Given the description of an element on the screen output the (x, y) to click on. 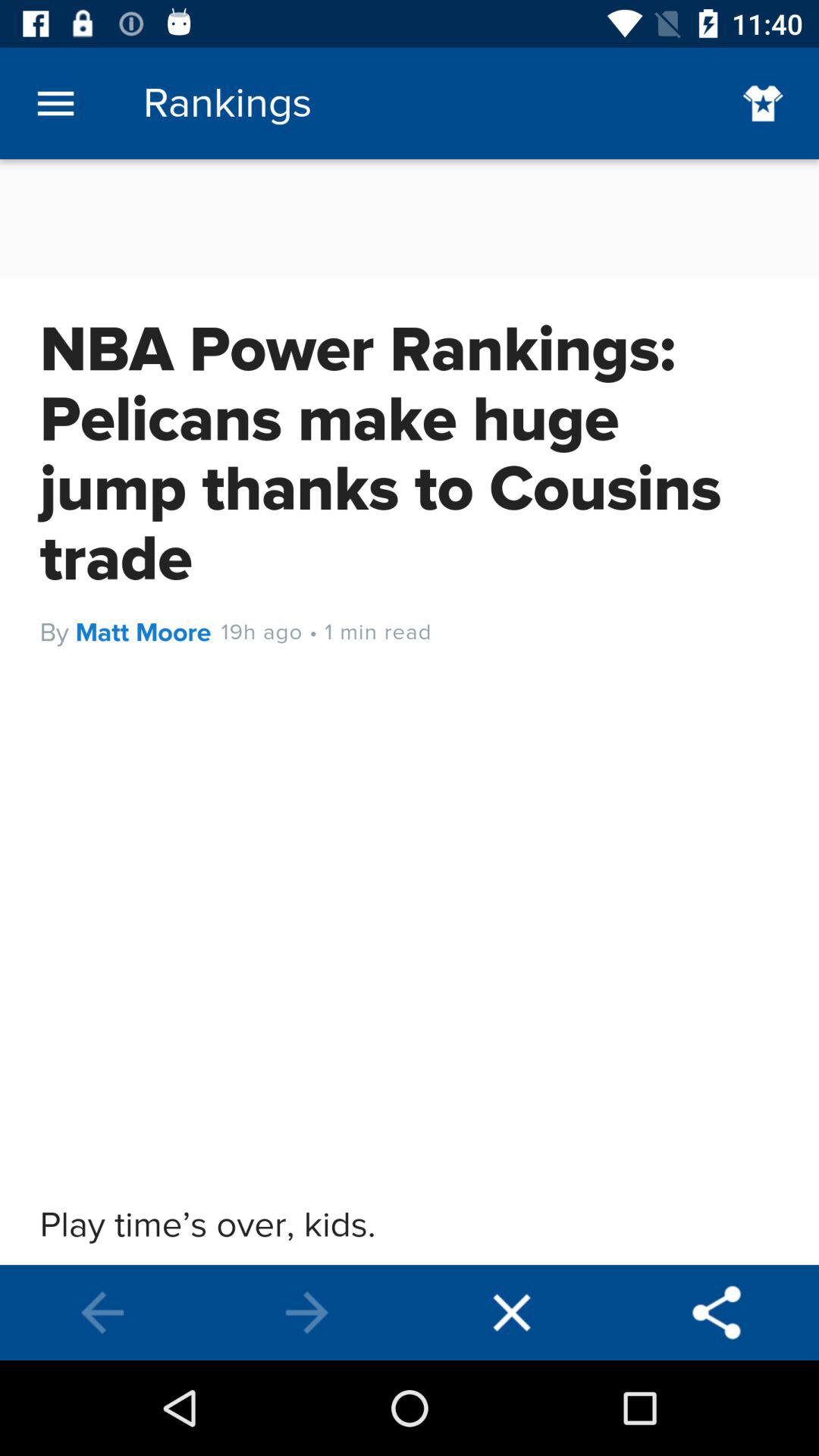
close page (511, 1312)
